Given the description of an element on the screen output the (x, y) to click on. 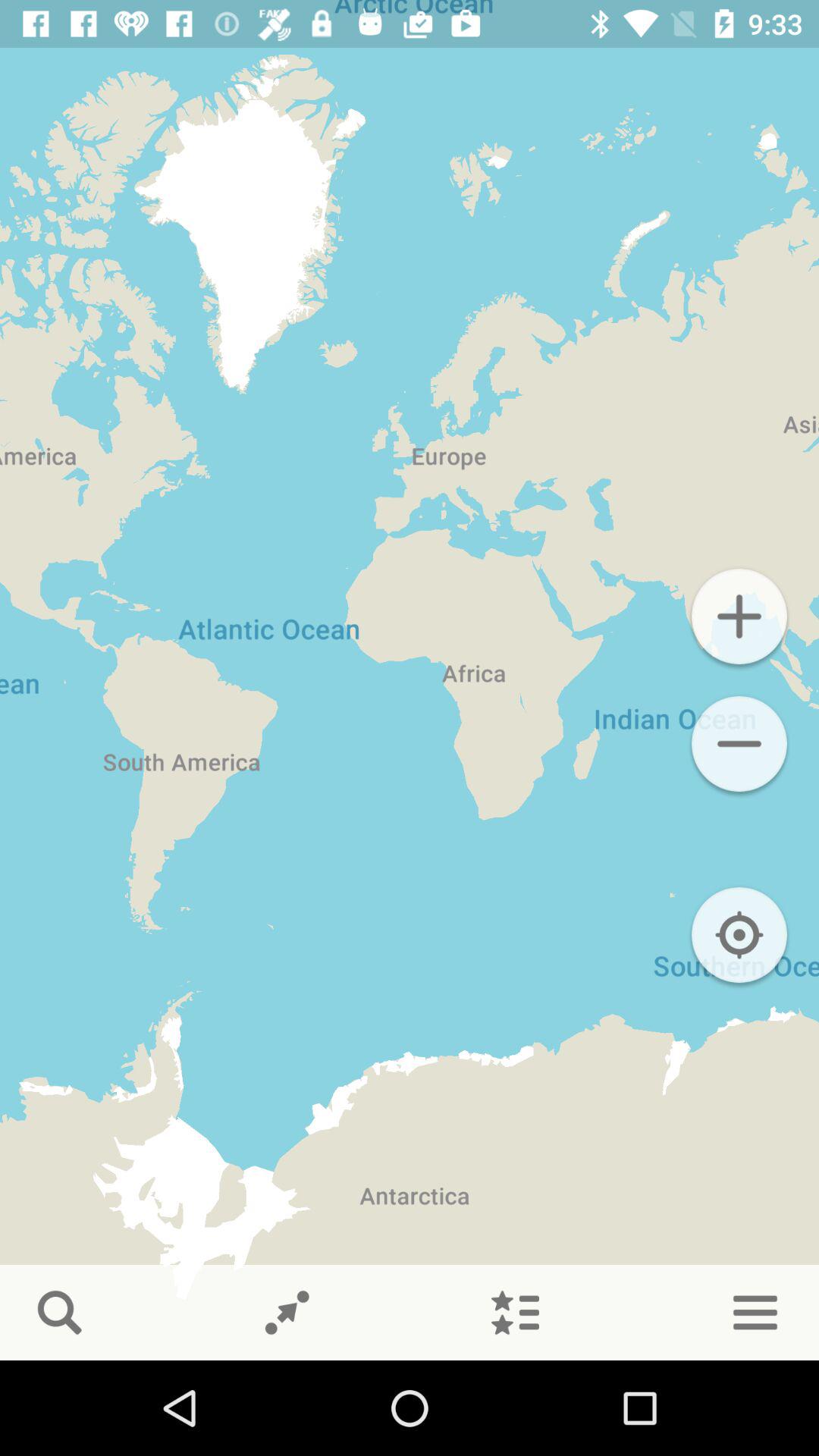
button (739, 616)
